Given the description of an element on the screen output the (x, y) to click on. 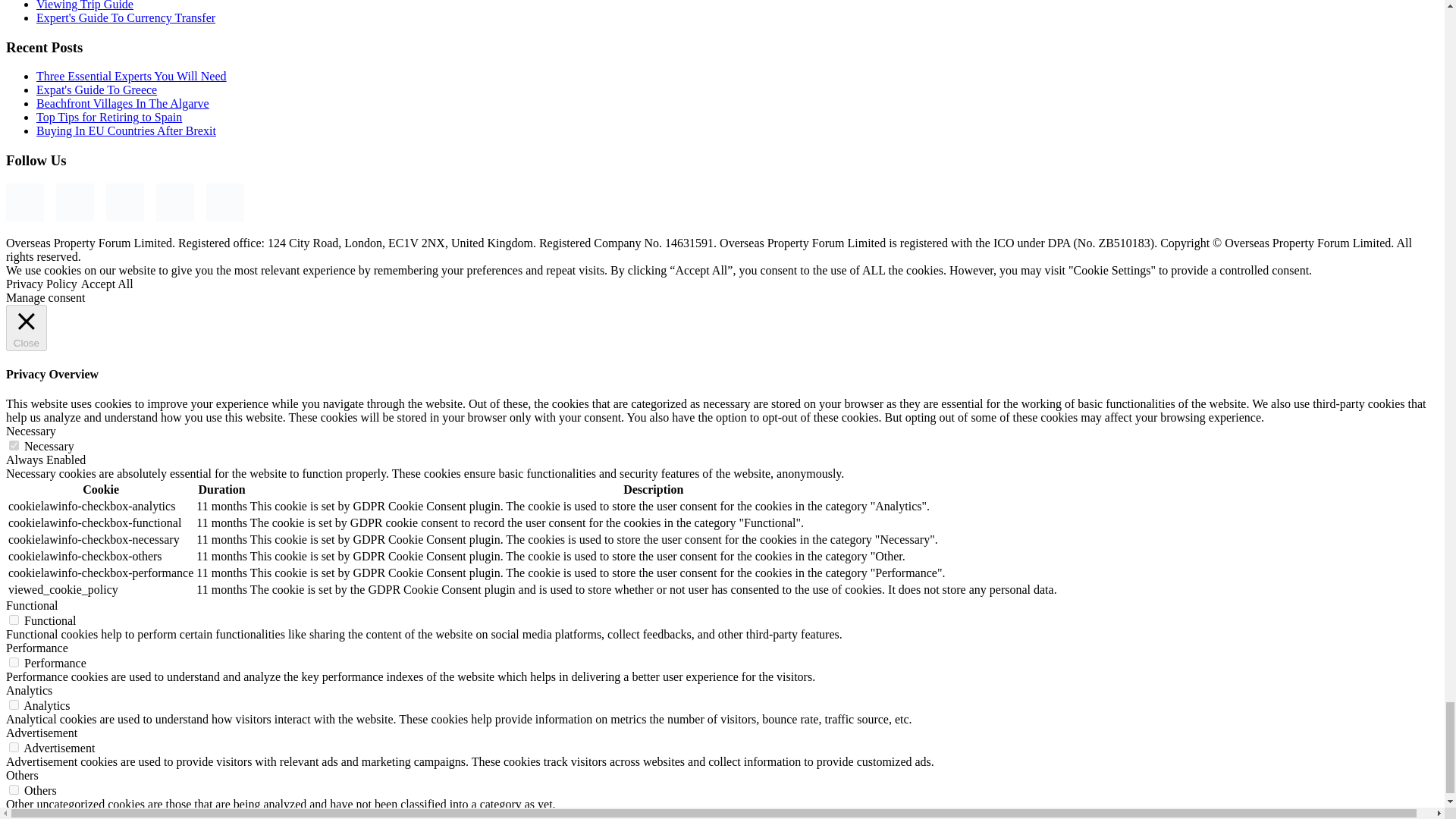
Facebook (24, 202)
on (13, 747)
Instagram (75, 202)
on (13, 619)
on (13, 789)
on (13, 705)
on (13, 662)
on (13, 445)
